Given the description of an element on the screen output the (x, y) to click on. 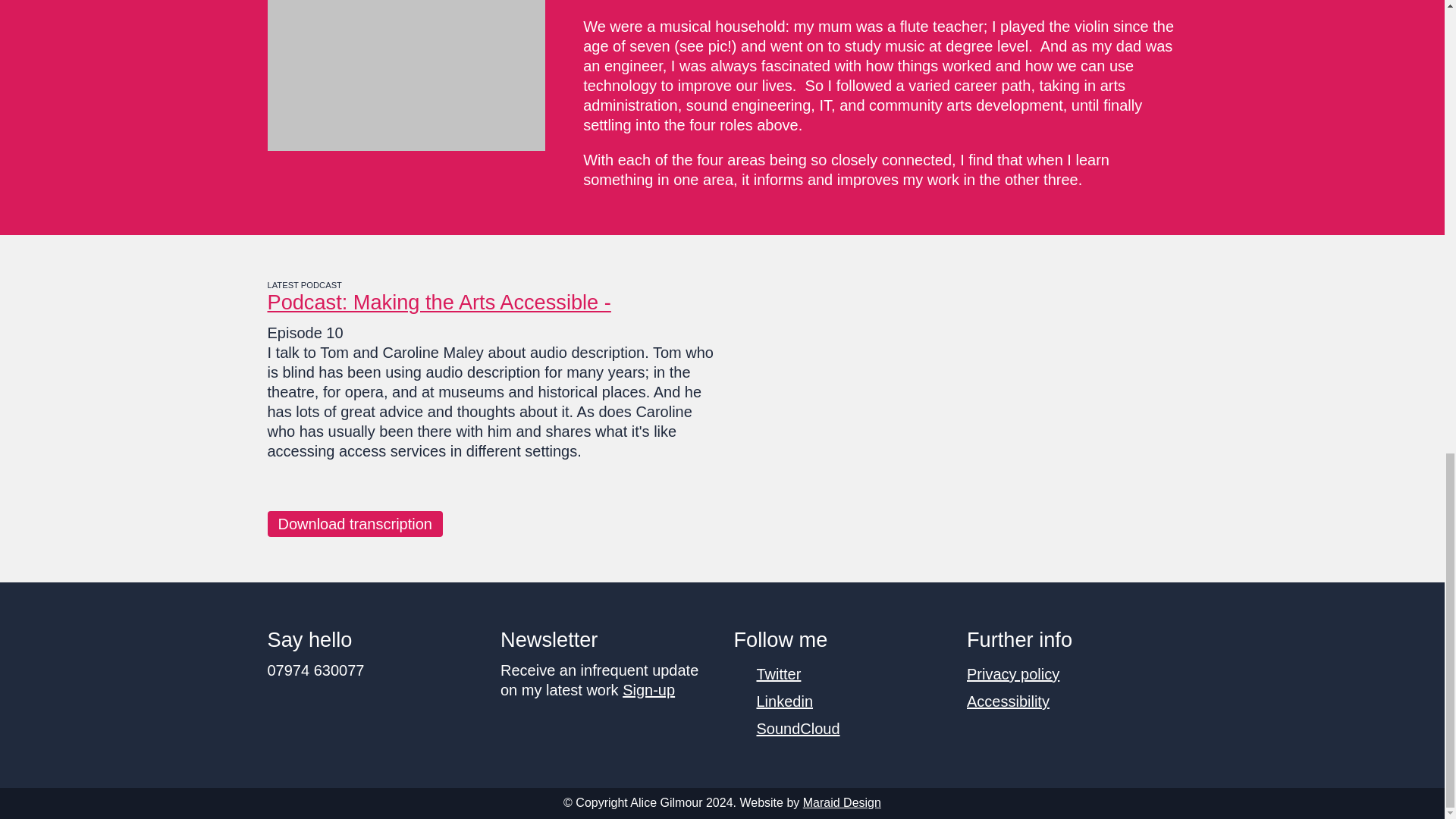
Accessibility (1007, 701)
Privacy policy (1012, 673)
SoundCloud (798, 728)
Sign-up (649, 689)
Download transcription (354, 524)
Linkedin (785, 701)
Maraid Design (841, 802)
Podcast: Making the Arts Accessible - (438, 301)
Twitter (779, 673)
